Given the description of an element on the screen output the (x, y) to click on. 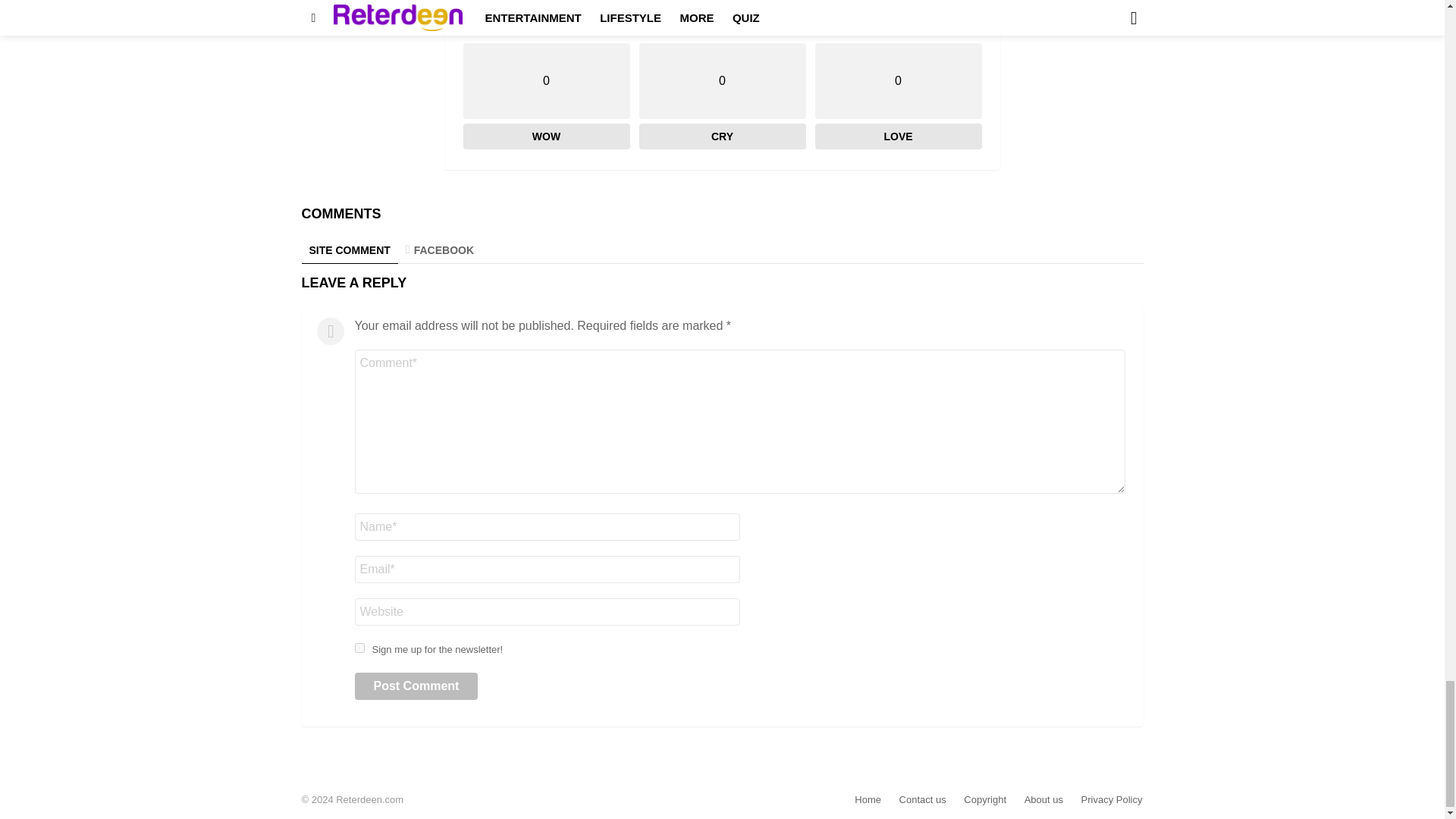
1 (360, 647)
Post Comment (417, 686)
